Given the description of an element on the screen output the (x, y) to click on. 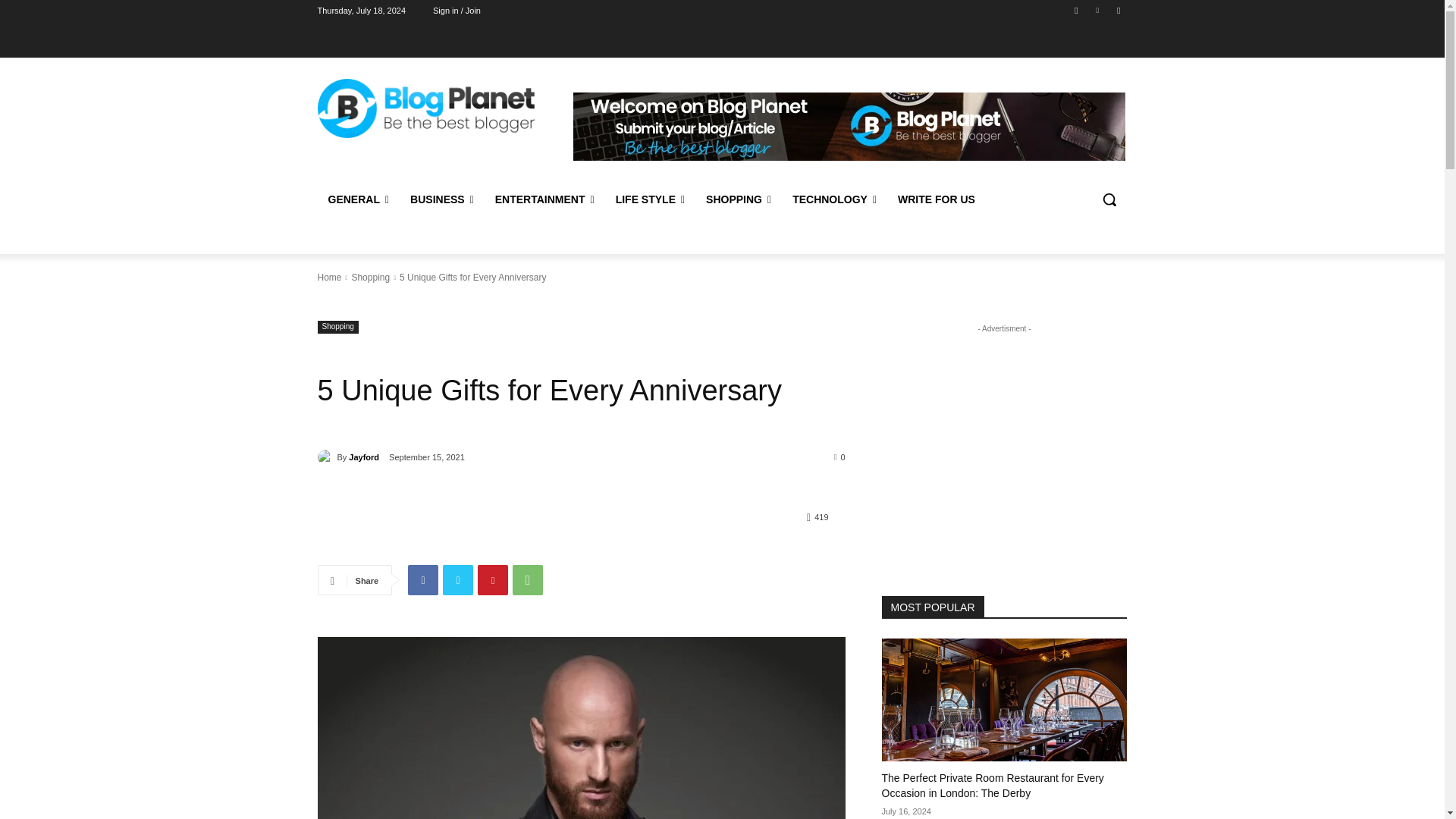
Pinterest (492, 580)
View all posts in Shopping (370, 276)
Facebook (422, 580)
Linkedin (1097, 9)
GENERAL (357, 198)
Twitter (457, 580)
Facebook (1075, 9)
Twitter (1117, 9)
WhatsApp (527, 580)
Jayford (326, 457)
